Given the description of an element on the screen output the (x, y) to click on. 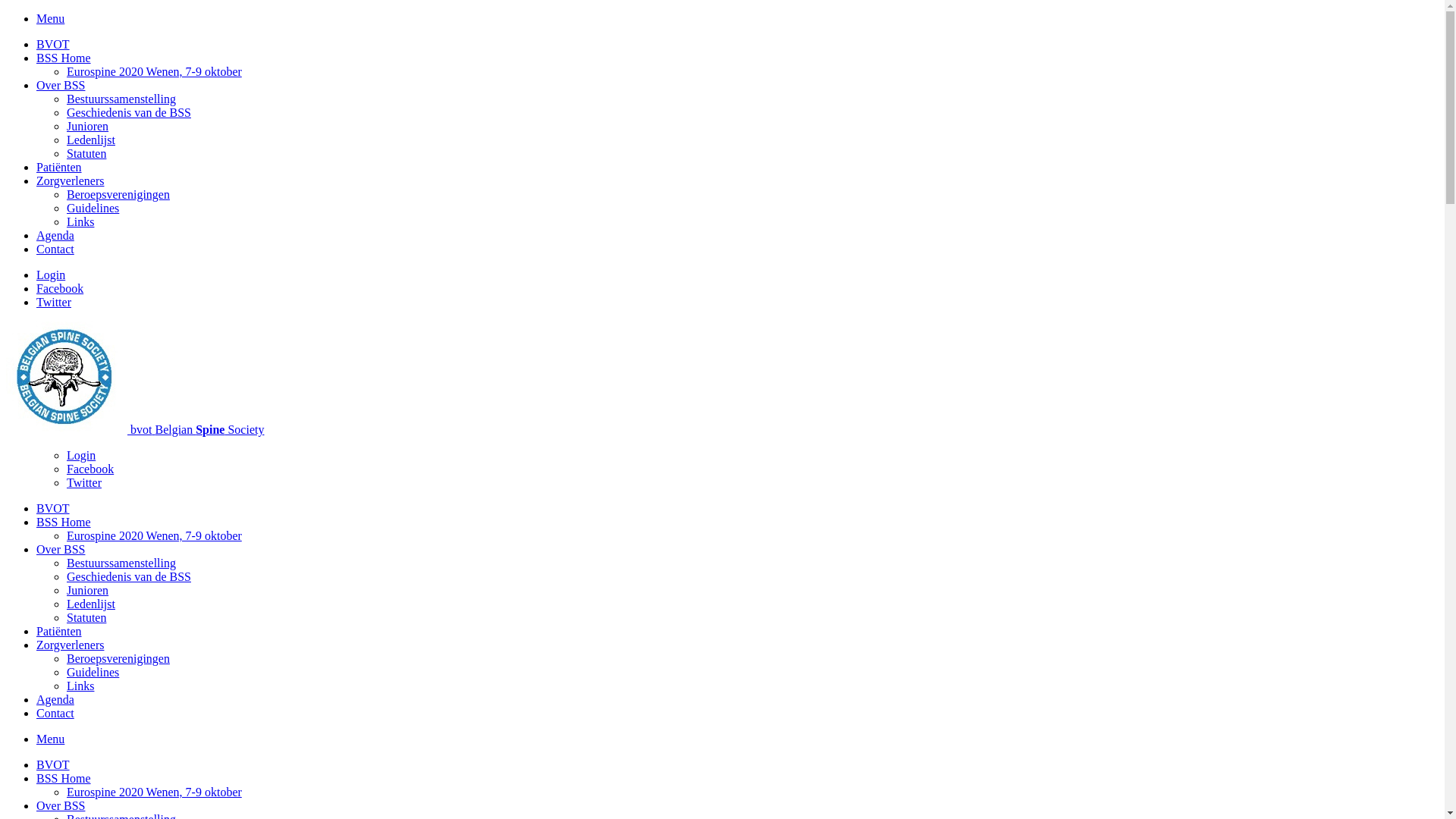
Beroepsverenigingen Element type: text (117, 658)
Zorgverleners Element type: text (69, 180)
Facebook Element type: text (59, 288)
Geschiedenis van de BSS Element type: text (128, 576)
Agenda Element type: text (55, 699)
Agenda Element type: text (55, 235)
Facebook Element type: text (89, 468)
Links Element type: text (80, 685)
Guidelines Element type: text (92, 207)
Ledenlijst Element type: text (90, 603)
Ledenlijst Element type: text (90, 139)
Over BSS Element type: text (60, 84)
Statuten Element type: text (86, 617)
Login Element type: text (50, 274)
Twitter Element type: text (83, 482)
BSS Home Element type: text (63, 521)
Contact Element type: text (55, 712)
Beroepsverenigingen Element type: text (117, 194)
Login Element type: text (80, 454)
Zorgverleners Element type: text (69, 644)
BVOT Element type: text (52, 43)
Eurospine 2020 Wenen, 7-9 oktober Element type: text (153, 791)
Junioren Element type: text (87, 589)
Bestuurssamenstelling Element type: text (120, 98)
Eurospine 2020 Wenen, 7-9 oktober Element type: text (153, 71)
Junioren Element type: text (87, 125)
Menu Element type: text (50, 18)
Over BSS Element type: text (60, 548)
Over BSS Element type: text (60, 805)
BSS Home Element type: text (63, 57)
Geschiedenis van de BSS Element type: text (128, 112)
Bestuurssamenstelling Element type: text (120, 562)
Menu Element type: text (50, 738)
Statuten Element type: text (86, 153)
BSS Home Element type: text (63, 777)
Guidelines Element type: text (92, 671)
Eurospine 2020 Wenen, 7-9 oktober Element type: text (153, 535)
BVOT Element type: text (52, 764)
Contact Element type: text (55, 248)
bvot Belgian Spine Society Element type: text (196, 429)
Home Element type: hover (68, 429)
Links Element type: text (80, 221)
BVOT Element type: text (52, 508)
Twitter Element type: text (53, 301)
